Given the description of an element on the screen output the (x, y) to click on. 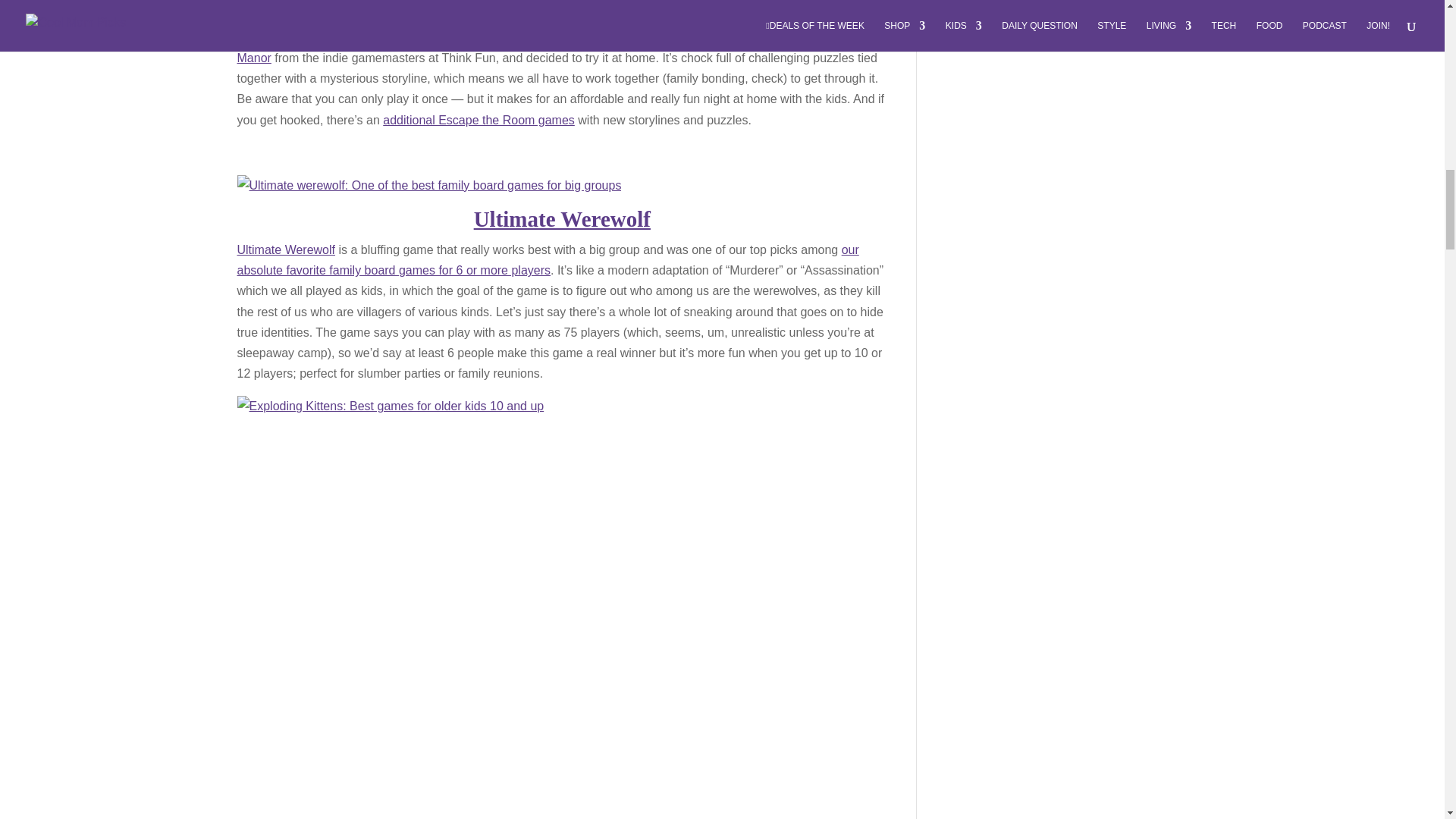
Escape the Room: Mystery at the Stargazer's Manor (546, 47)
additional Escape the Room games (478, 119)
